Given the description of an element on the screen output the (x, y) to click on. 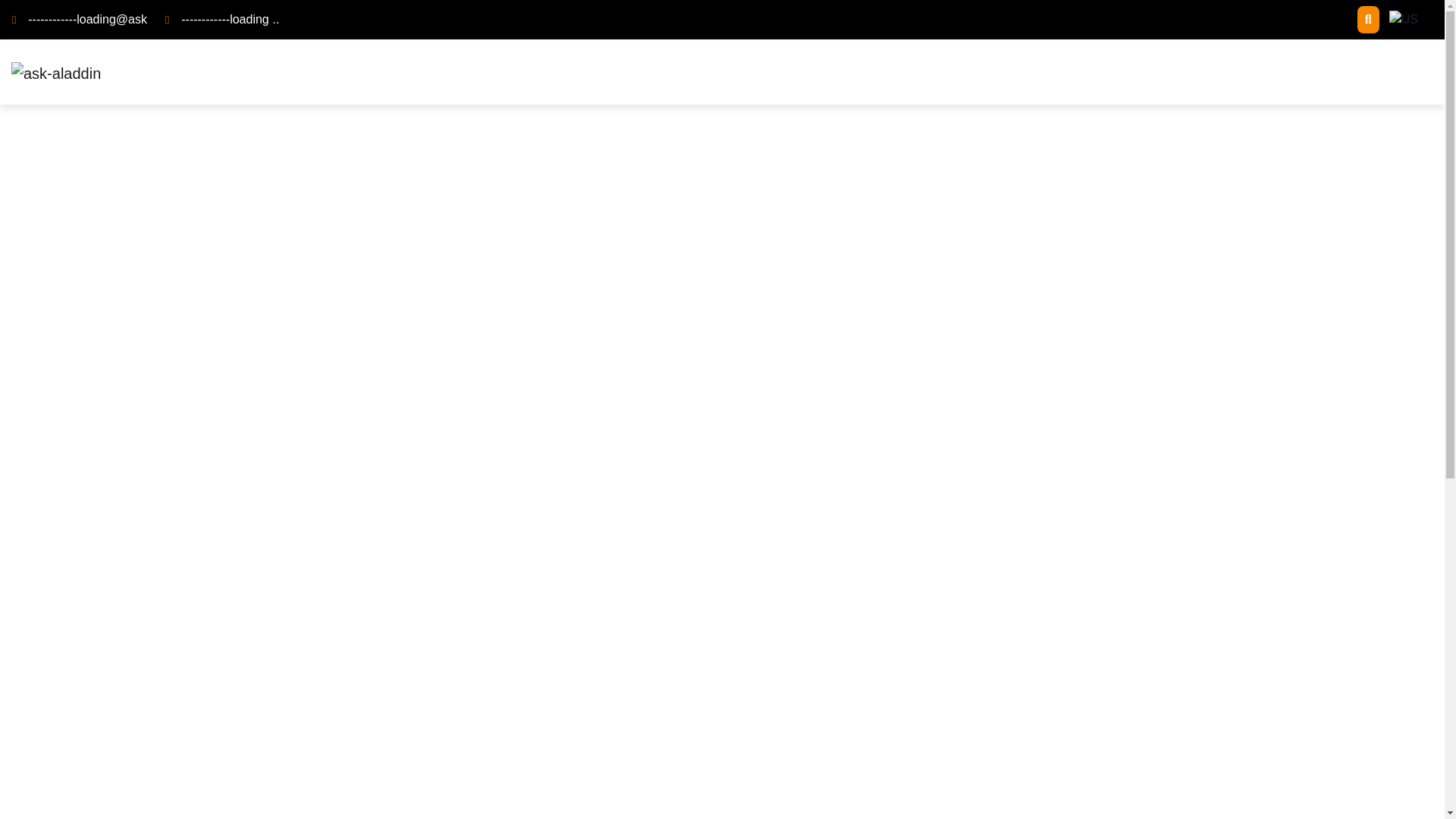
en (1403, 19)
ask-aladdin (55, 73)
------------loading .. (229, 19)
